Given the description of an element on the screen output the (x, y) to click on. 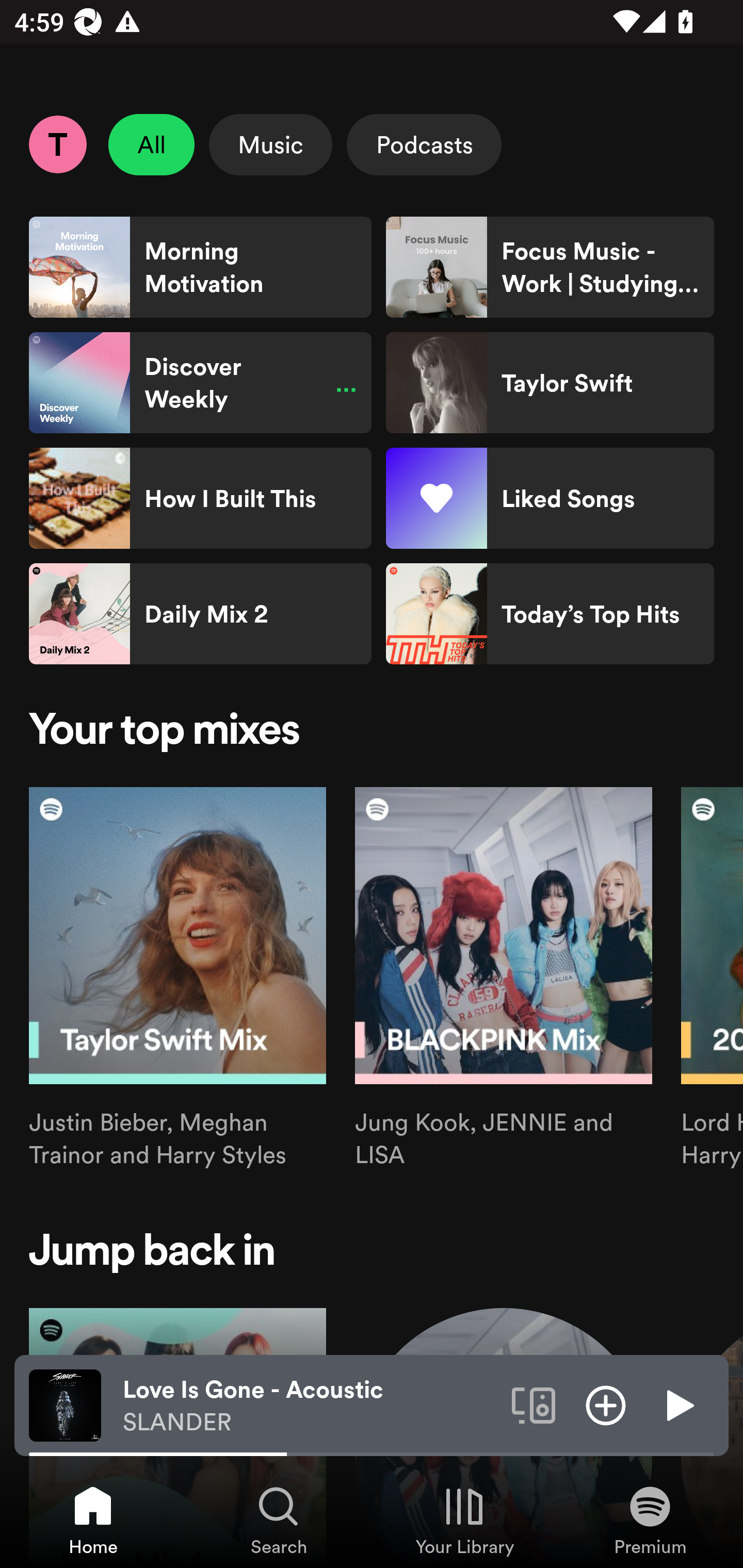
Profile (57, 144)
All Unselect All (151, 144)
Music Select Music (270, 144)
Podcasts Select Podcasts (423, 144)
Morning Motivation Shortcut Morning Motivation (199, 267)
Discover Weekly Shortcut Discover Weekly Paused (199, 382)
Taylor Swift Shortcut Taylor Swift (549, 382)
How I Built This  Shortcut How I Built This  (199, 498)
Liked Songs Shortcut Liked Songs (549, 498)
Daily Mix 2 Shortcut Daily Mix 2 (199, 613)
Today’s Top Hits Shortcut Today’s Top Hits (549, 613)
Love Is Gone - Acoustic SLANDER (309, 1405)
The cover art of the currently playing track (64, 1404)
Connect to a device. Opens the devices menu (533, 1404)
Add item (605, 1404)
Play (677, 1404)
Home, Tab 1 of 4 Home Home (92, 1519)
Search, Tab 2 of 4 Search Search (278, 1519)
Your Library, Tab 3 of 4 Your Library Your Library (464, 1519)
Premium, Tab 4 of 4 Premium Premium (650, 1519)
